Given the description of an element on the screen output the (x, y) to click on. 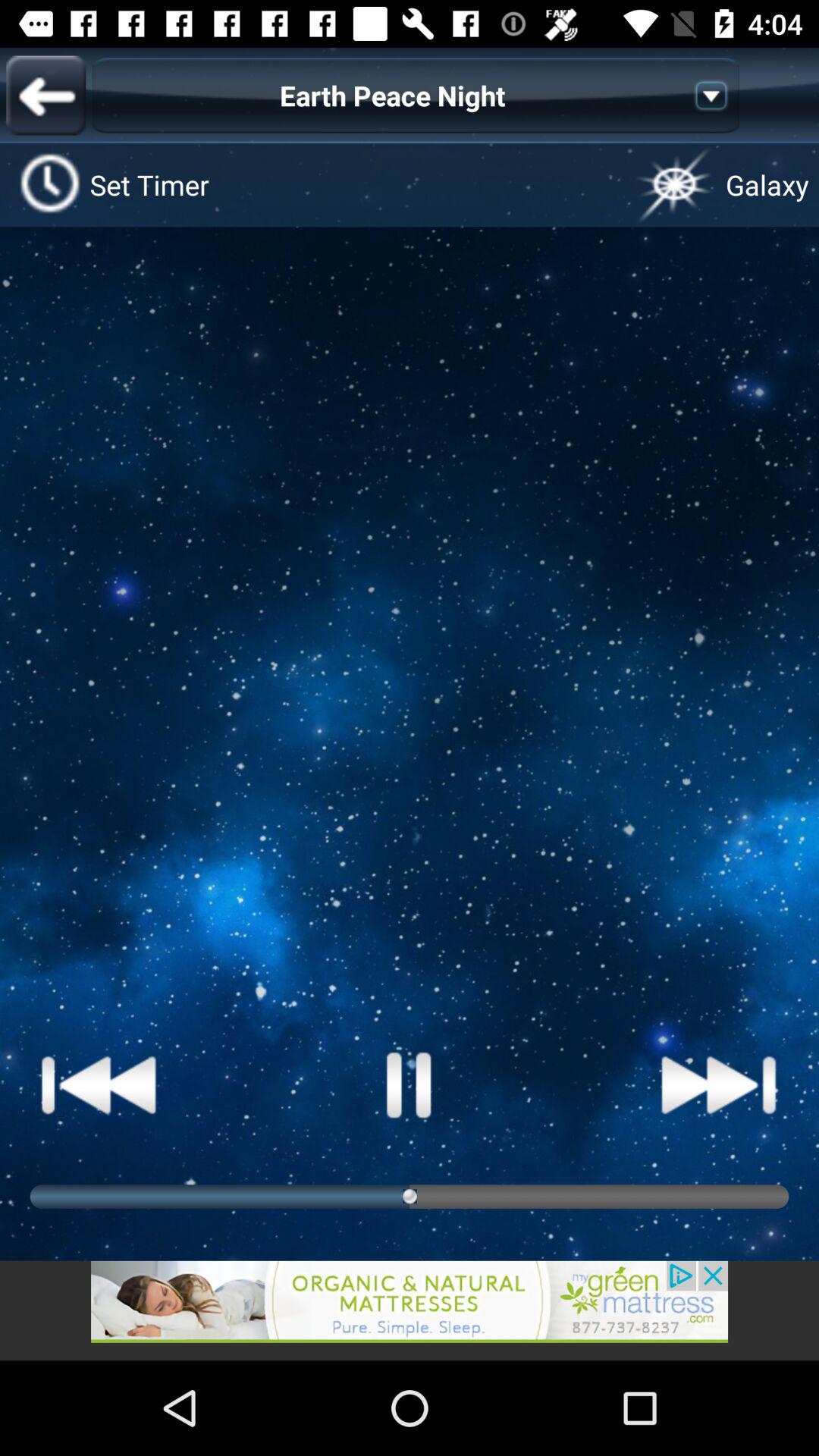
rewind (99, 1084)
